Given the description of an element on the screen output the (x, y) to click on. 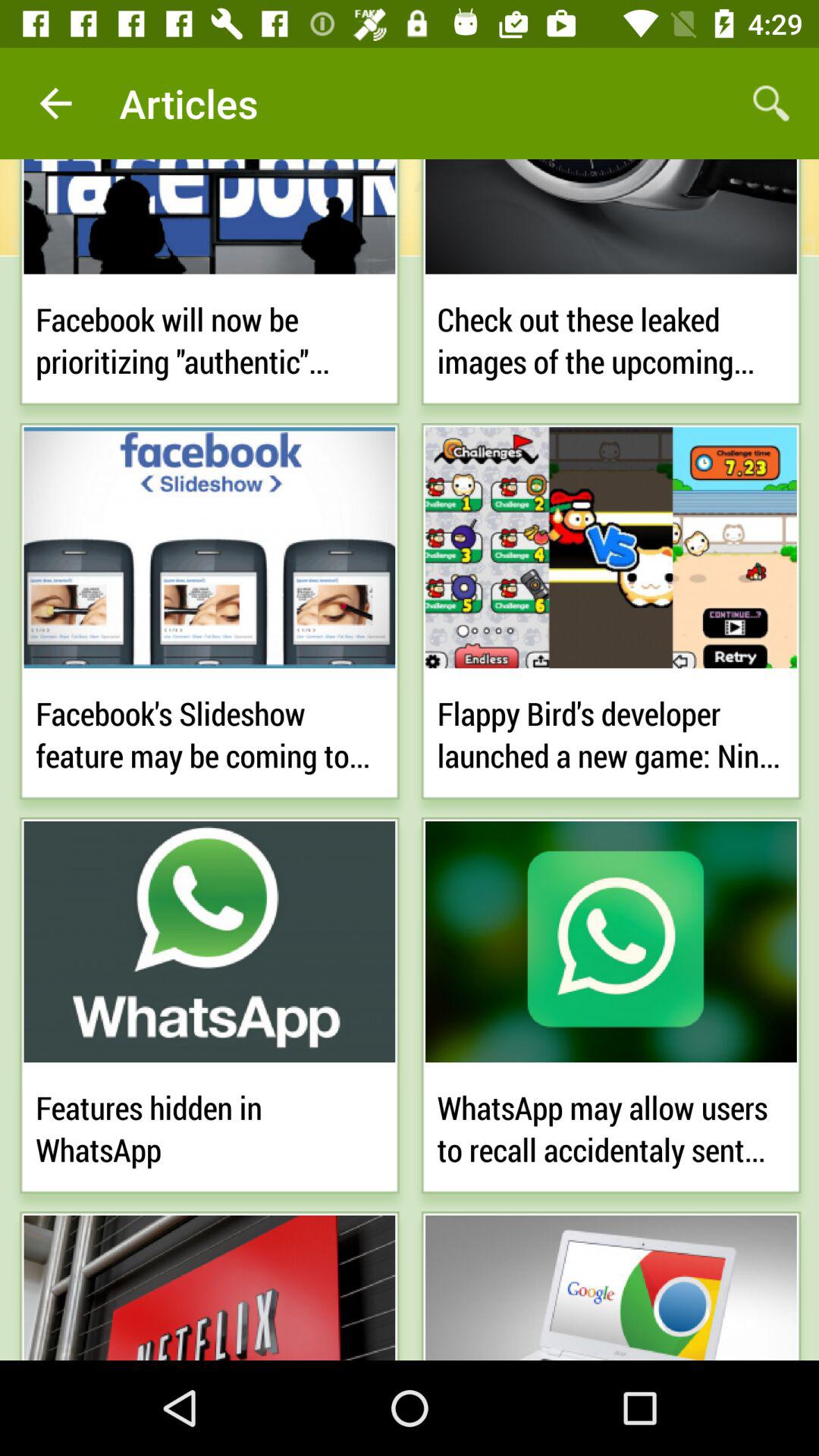
choose check out these (610, 337)
